Given the description of an element on the screen output the (x, y) to click on. 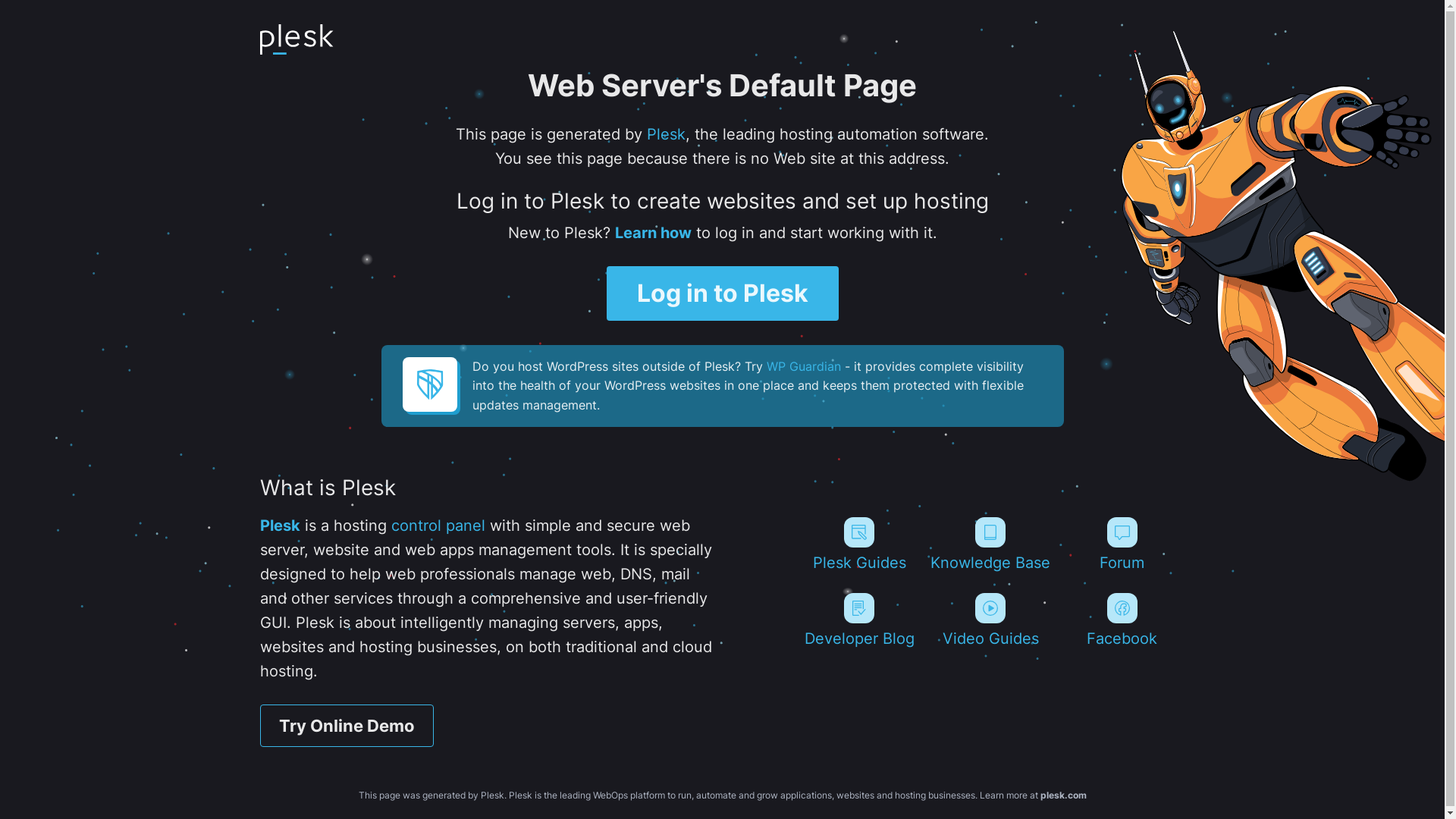
Plesk Guides Element type: text (858, 544)
Try Online Demo Element type: text (346, 725)
Plesk Element type: text (279, 525)
Log in to Plesk Element type: text (722, 293)
Developer Blog Element type: text (858, 620)
Forum Element type: text (1121, 544)
Knowledge Base Element type: text (990, 544)
Learn how Element type: text (652, 232)
control panel Element type: text (438, 525)
Video Guides Element type: text (990, 620)
Plesk Element type: text (665, 134)
plesk.com Element type: text (1063, 794)
Facebook Element type: text (1121, 620)
WP Guardian Element type: text (802, 365)
